Given the description of an element on the screen output the (x, y) to click on. 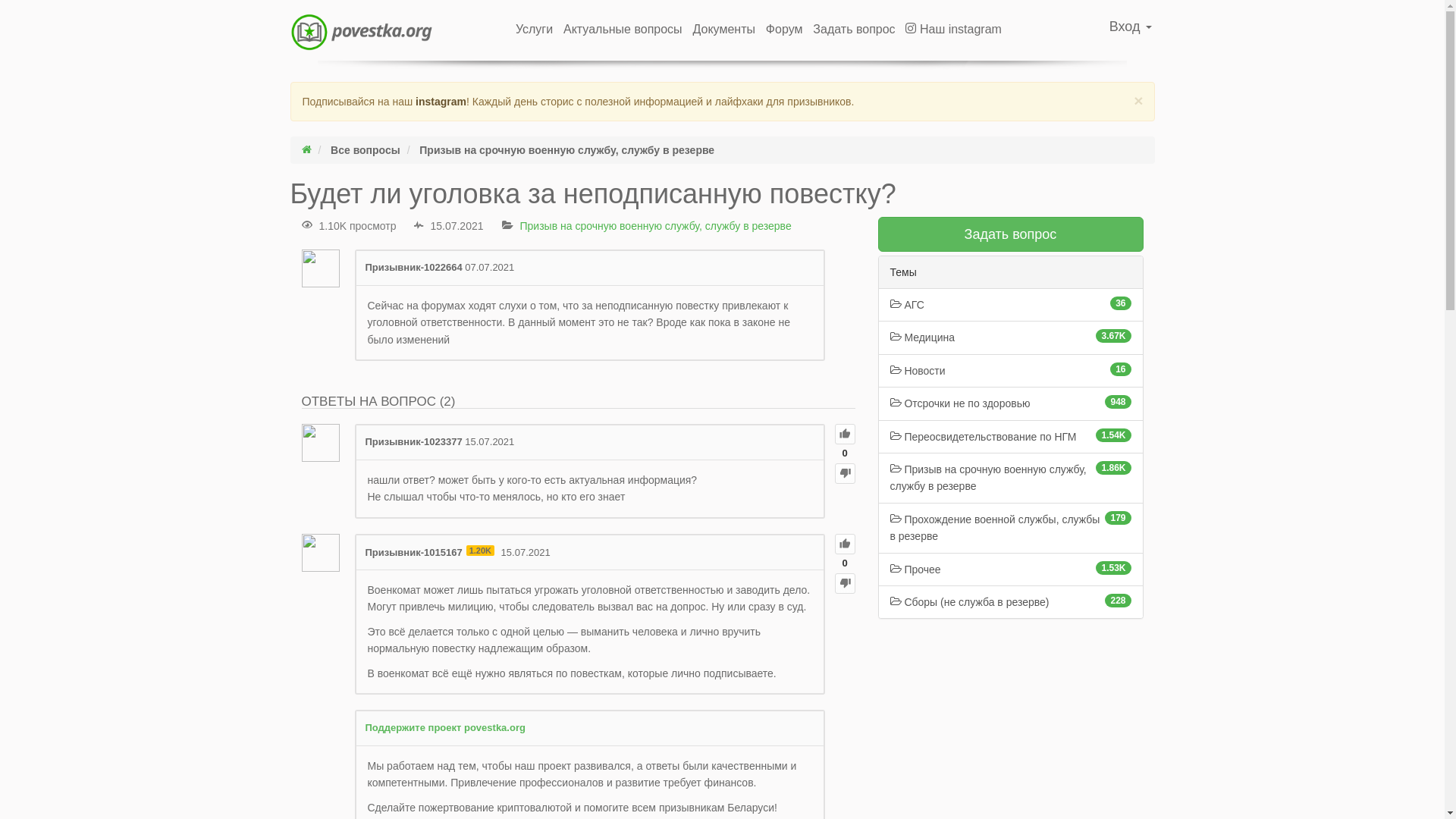
15.07.2021 Element type: text (489, 441)
instagram Element type: text (440, 101)
15.07.2021 Element type: text (525, 551)
